Given the description of an element on the screen output the (x, y) to click on. 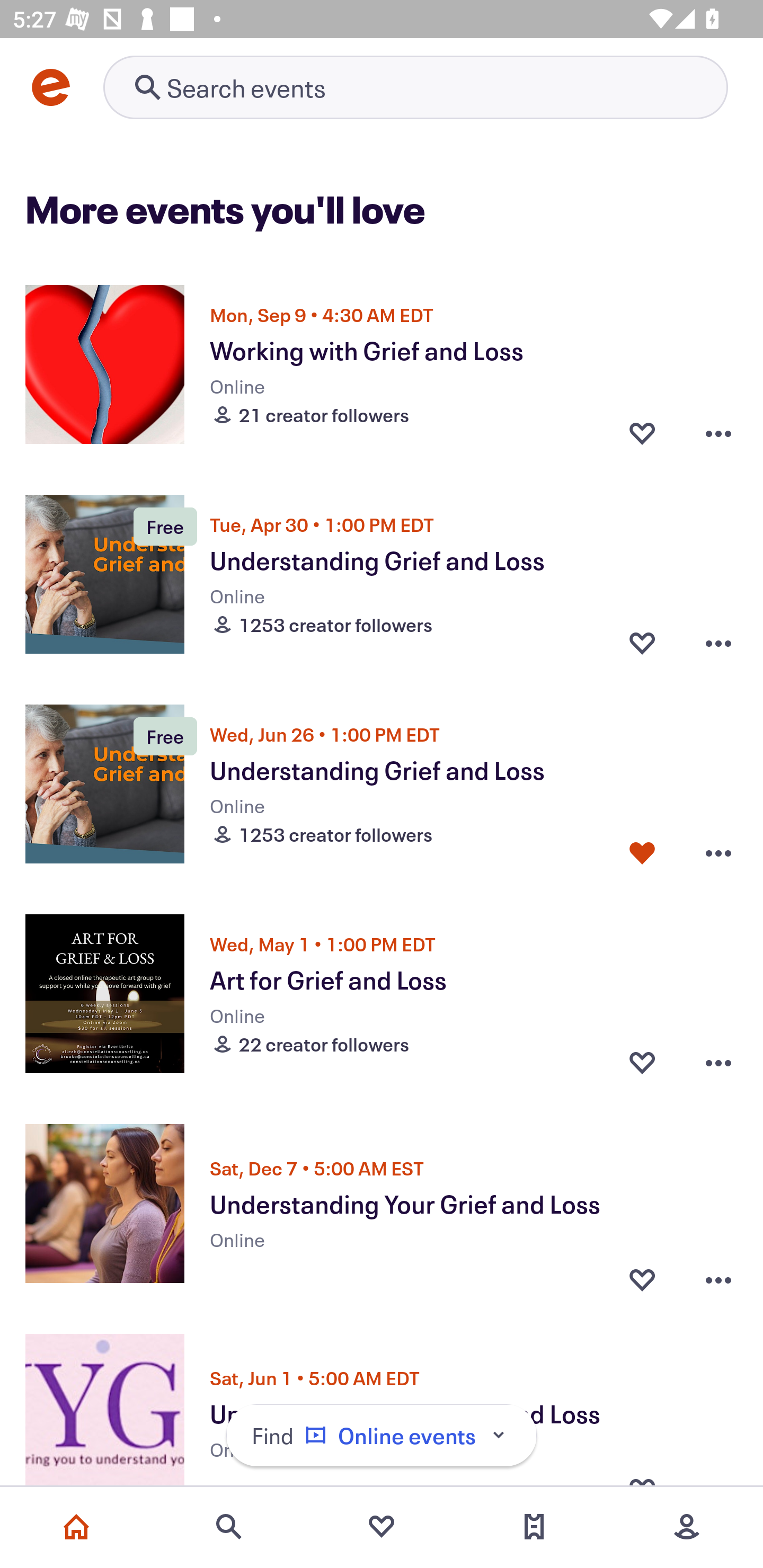
Retry's image Search events (415, 86)
Favorite button (642, 431)
Overflow menu button (718, 431)
Favorite button (642, 641)
Overflow menu button (718, 641)
Favorite button (642, 852)
Overflow menu button (718, 852)
Favorite button (642, 1062)
Overflow menu button (718, 1062)
Favorite button (642, 1274)
Overflow menu button (718, 1274)
Find Online events (381, 1435)
Home (76, 1526)
Search events (228, 1526)
Favorites (381, 1526)
Tickets (533, 1526)
More (686, 1526)
